Given the description of an element on the screen output the (x, y) to click on. 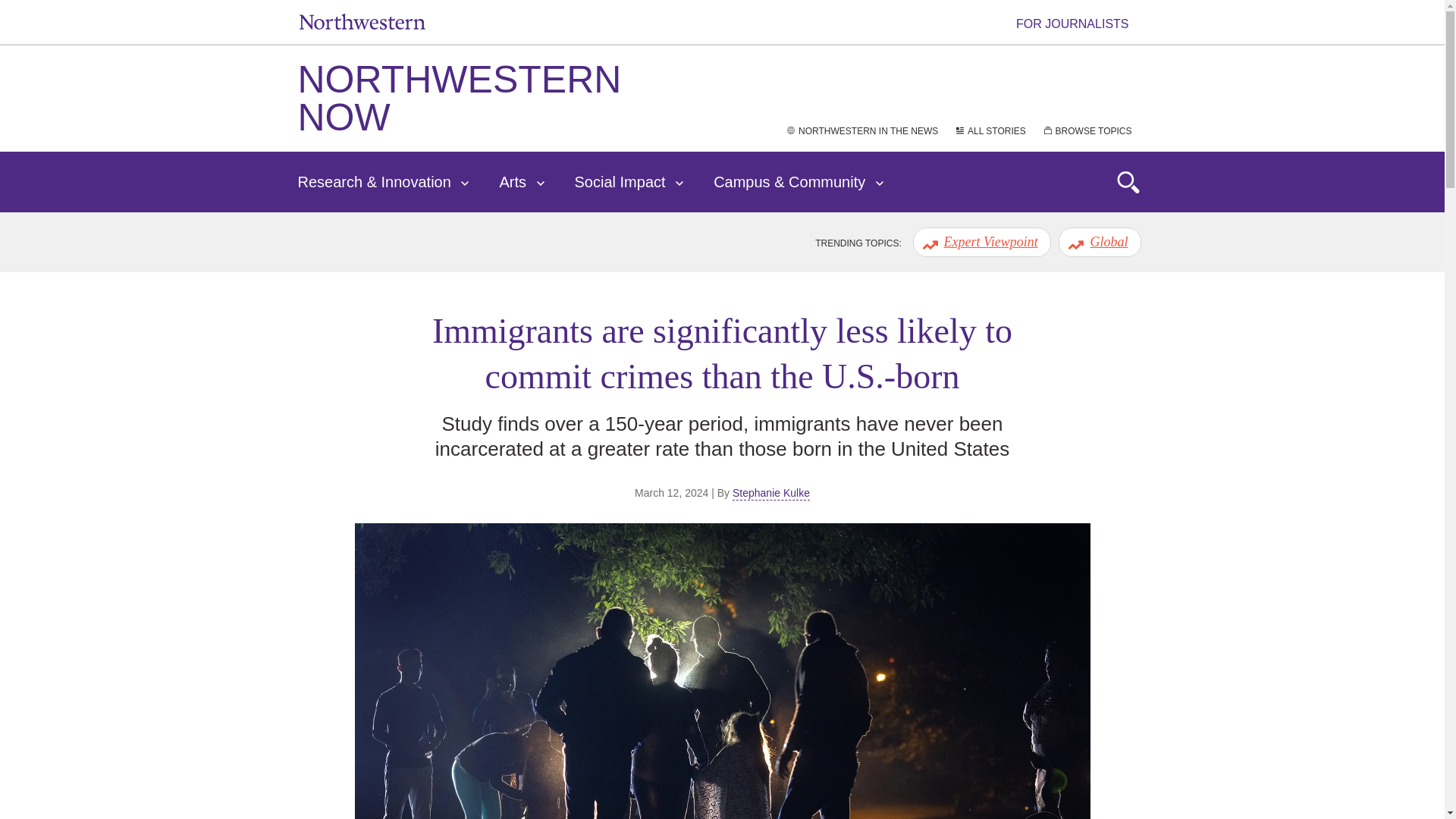
NORTHWESTERN IN THE NEWS (861, 131)
FOR JOURNALISTS (1081, 23)
Northwestern University Home (361, 21)
ALL STORIES (990, 131)
BROWSE TOPICS (1087, 131)
NORTHWESTERN NOW (459, 98)
